Given the description of an element on the screen output the (x, y) to click on. 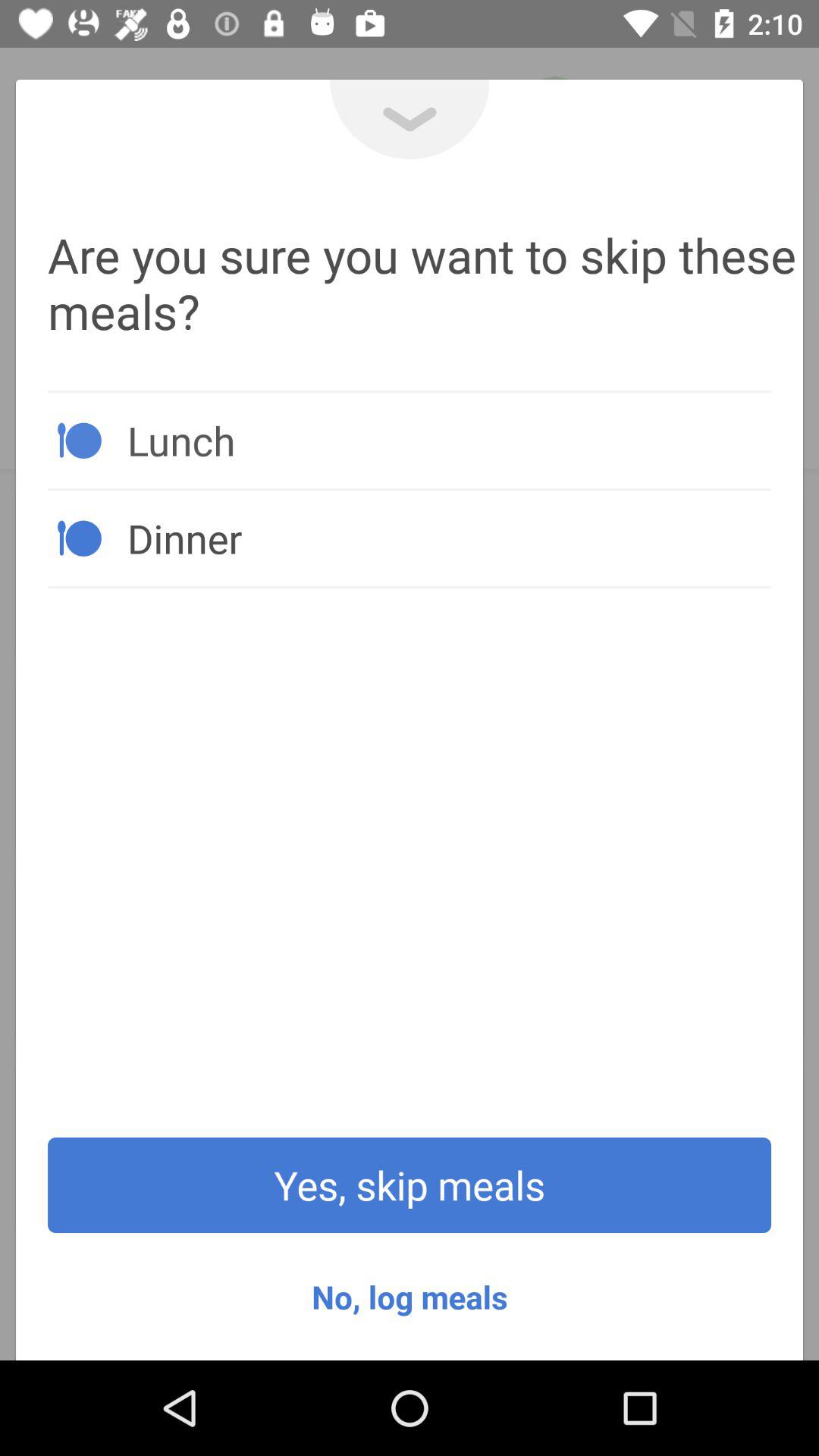
press icon above the dinner (449, 440)
